Given the description of an element on the screen output the (x, y) to click on. 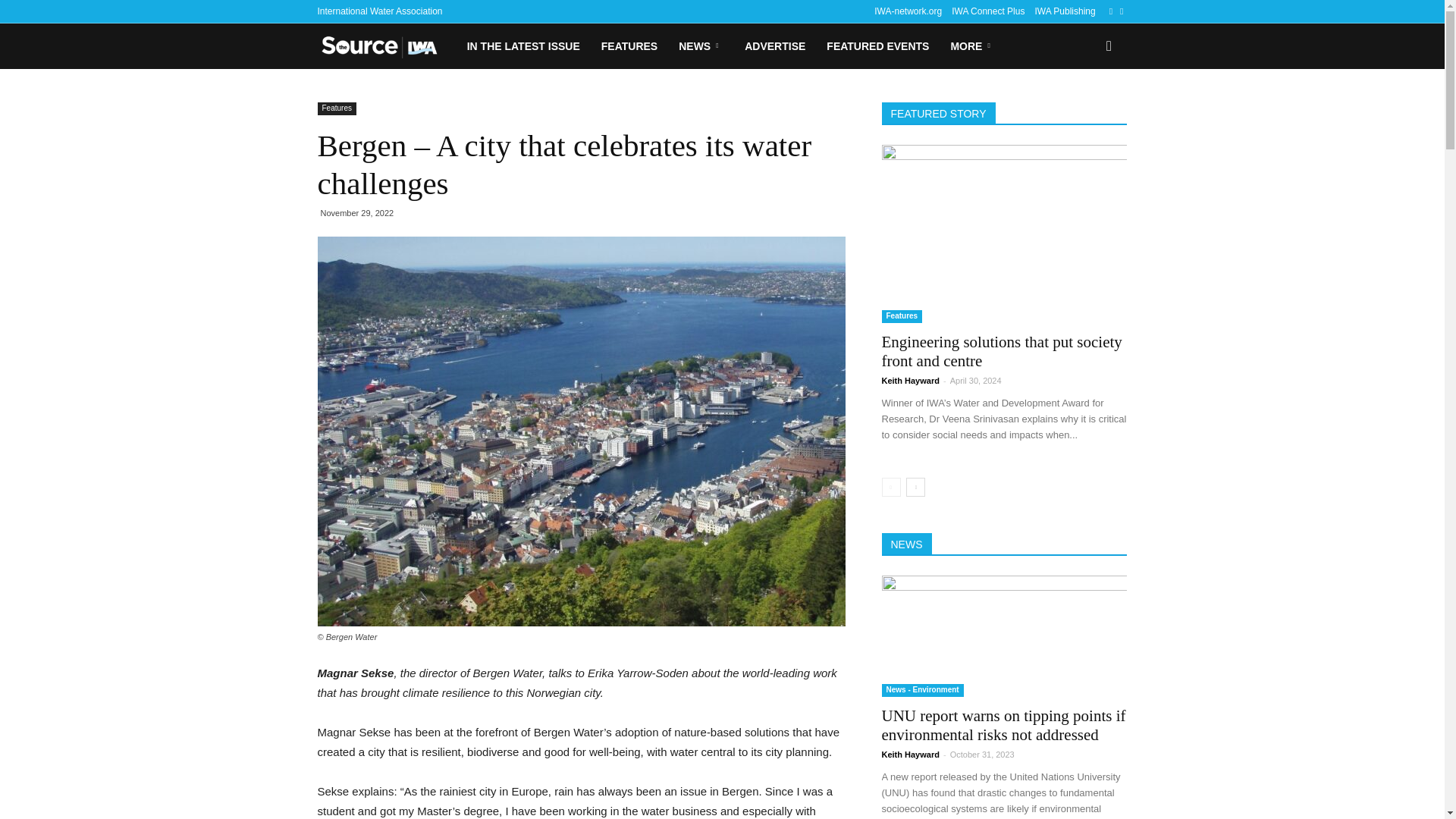
The Source (386, 46)
IWA Publishing (1063, 11)
IWA Connect Plus (988, 11)
Engineering solutions that put society front and centre (1000, 351)
IWA-network.org (908, 11)
ADVERTISE (774, 45)
FEATURES (629, 45)
IN THE LATEST ISSUE (524, 45)
NEWS (700, 45)
Engineering solutions that put society front and centre (1003, 233)
